Given the description of an element on the screen output the (x, y) to click on. 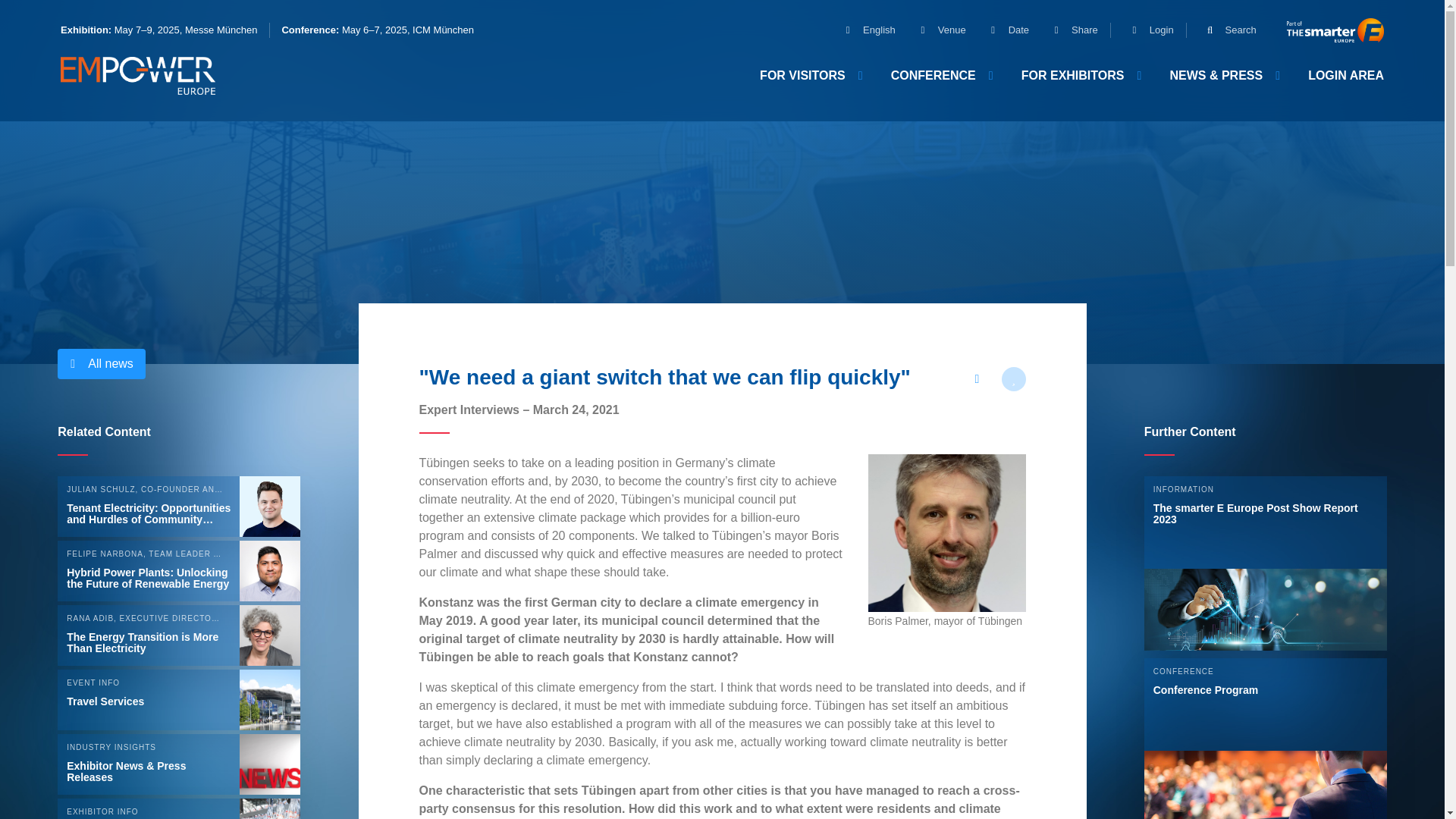
Venue (936, 30)
Login (1146, 30)
Change Language (863, 30)
Share this page (975, 378)
CONFERENCE (941, 75)
Venue (936, 30)
Search (1225, 30)
Share (1069, 30)
Login (1146, 30)
Date (1003, 30)
English (863, 30)
Date (1003, 30)
FOR VISITORS (810, 75)
Share (1069, 30)
Search (1225, 30)
